Given the description of an element on the screen output the (x, y) to click on. 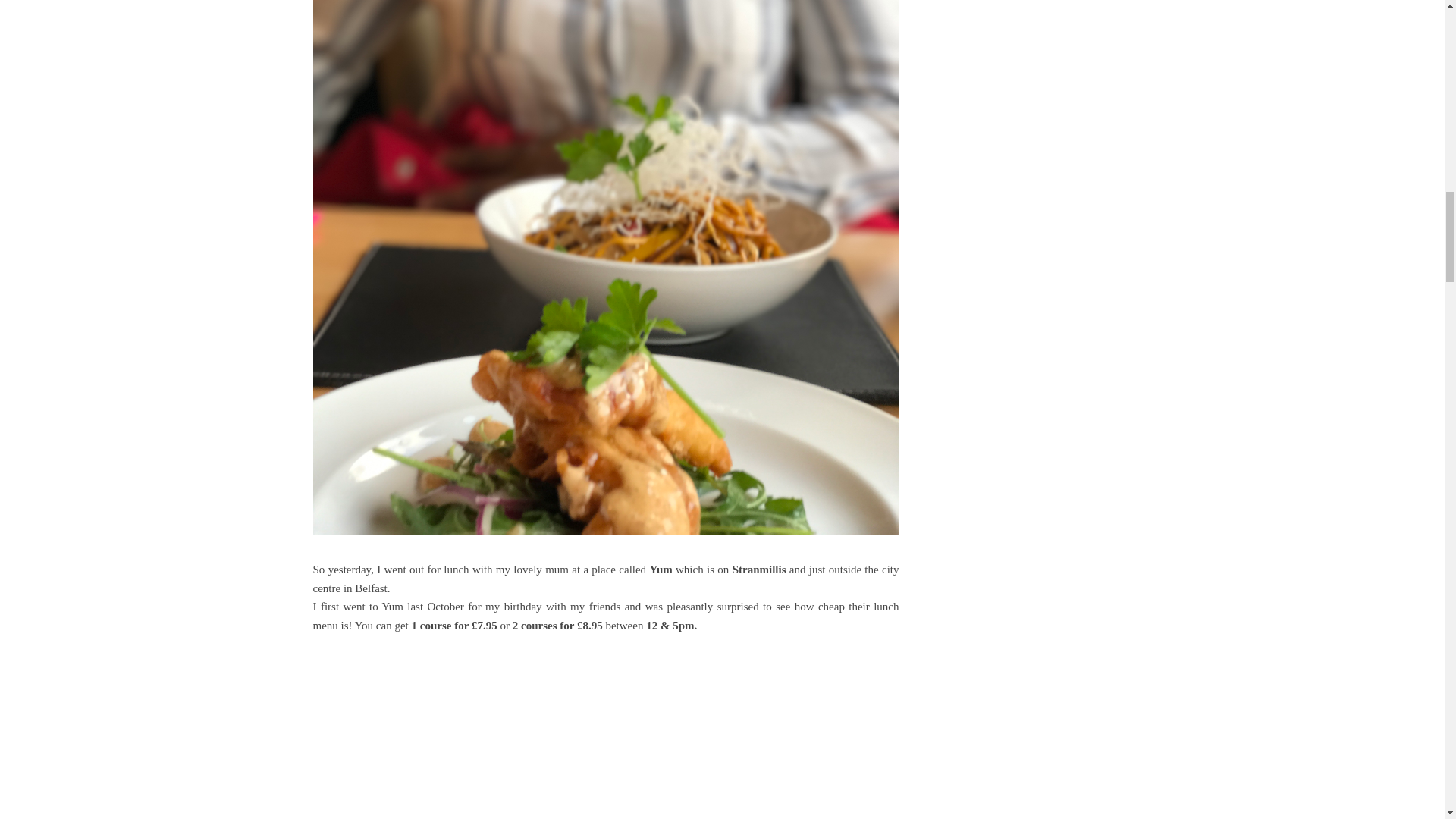
Advertisement (605, 732)
